Given the description of an element on the screen output the (x, y) to click on. 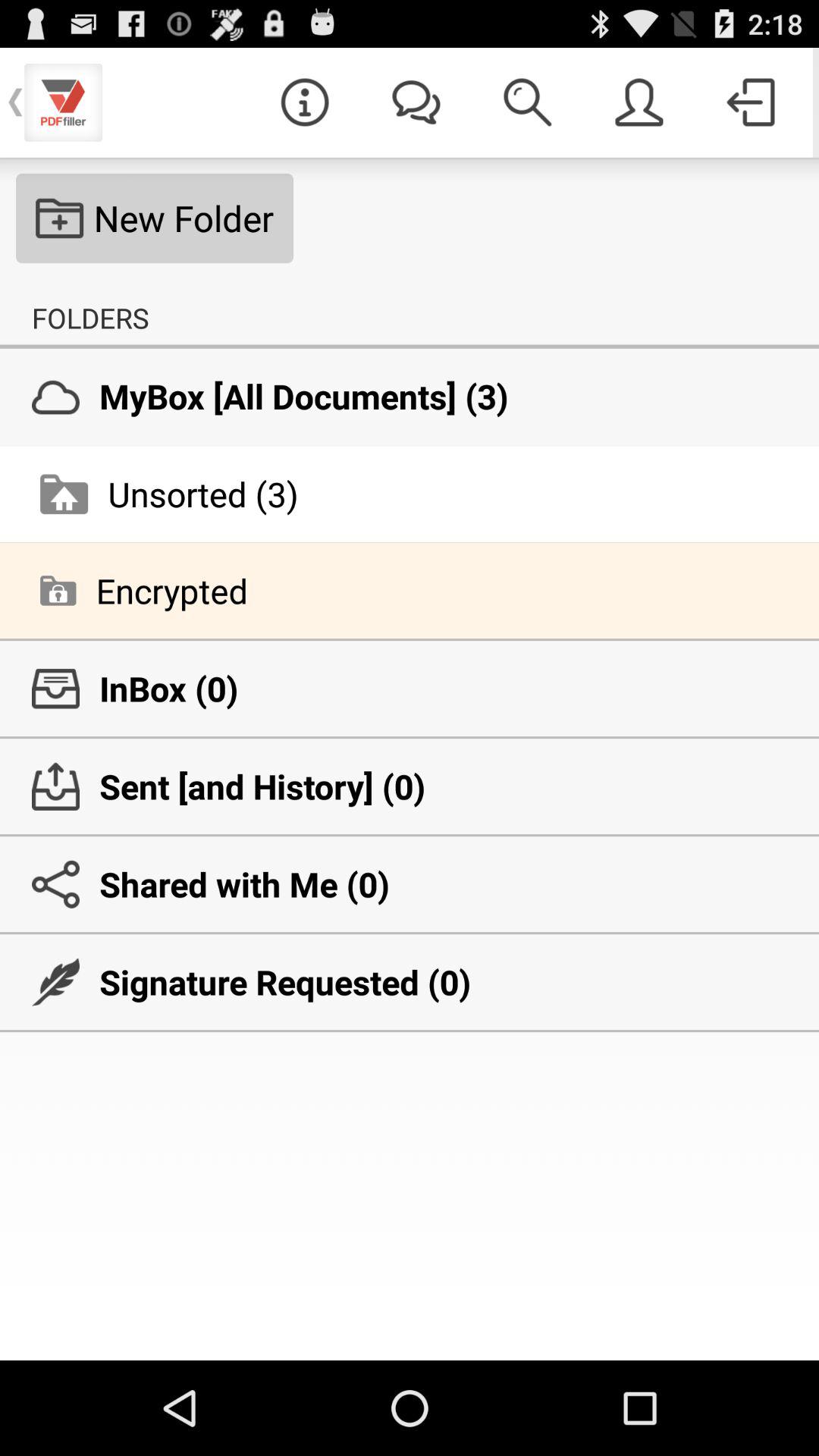
press folders item (90, 317)
